Given the description of an element on the screen output the (x, y) to click on. 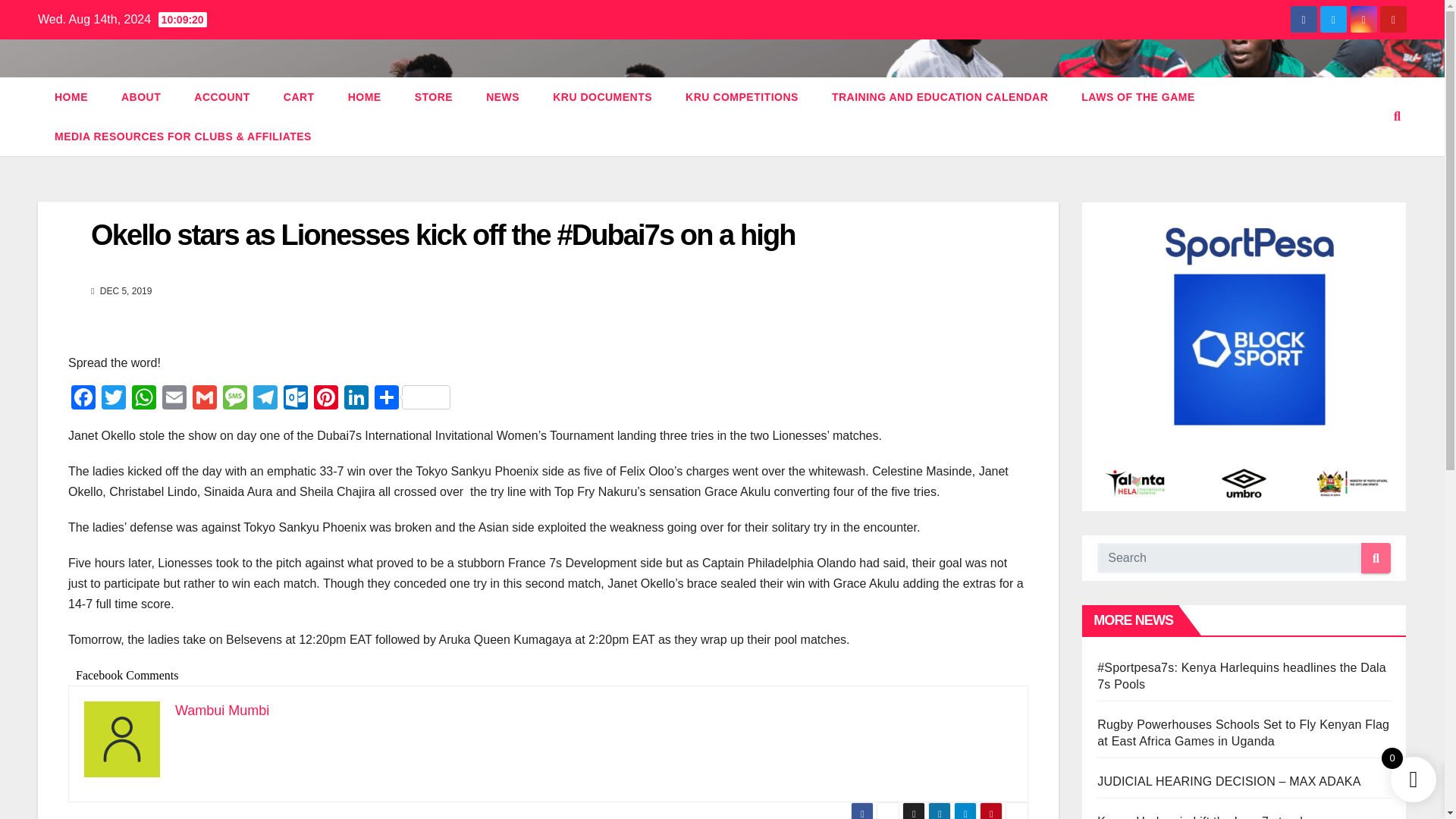
HOME (364, 96)
KRU COMPETITIONS (741, 96)
ABOUT (140, 96)
Gmail (204, 398)
ACCOUNT (221, 96)
LinkedIn (355, 398)
Facebook (83, 398)
Message (234, 398)
KRU DOCUMENTS (601, 96)
Outlook.com (296, 398)
